Given the description of an element on the screen output the (x, y) to click on. 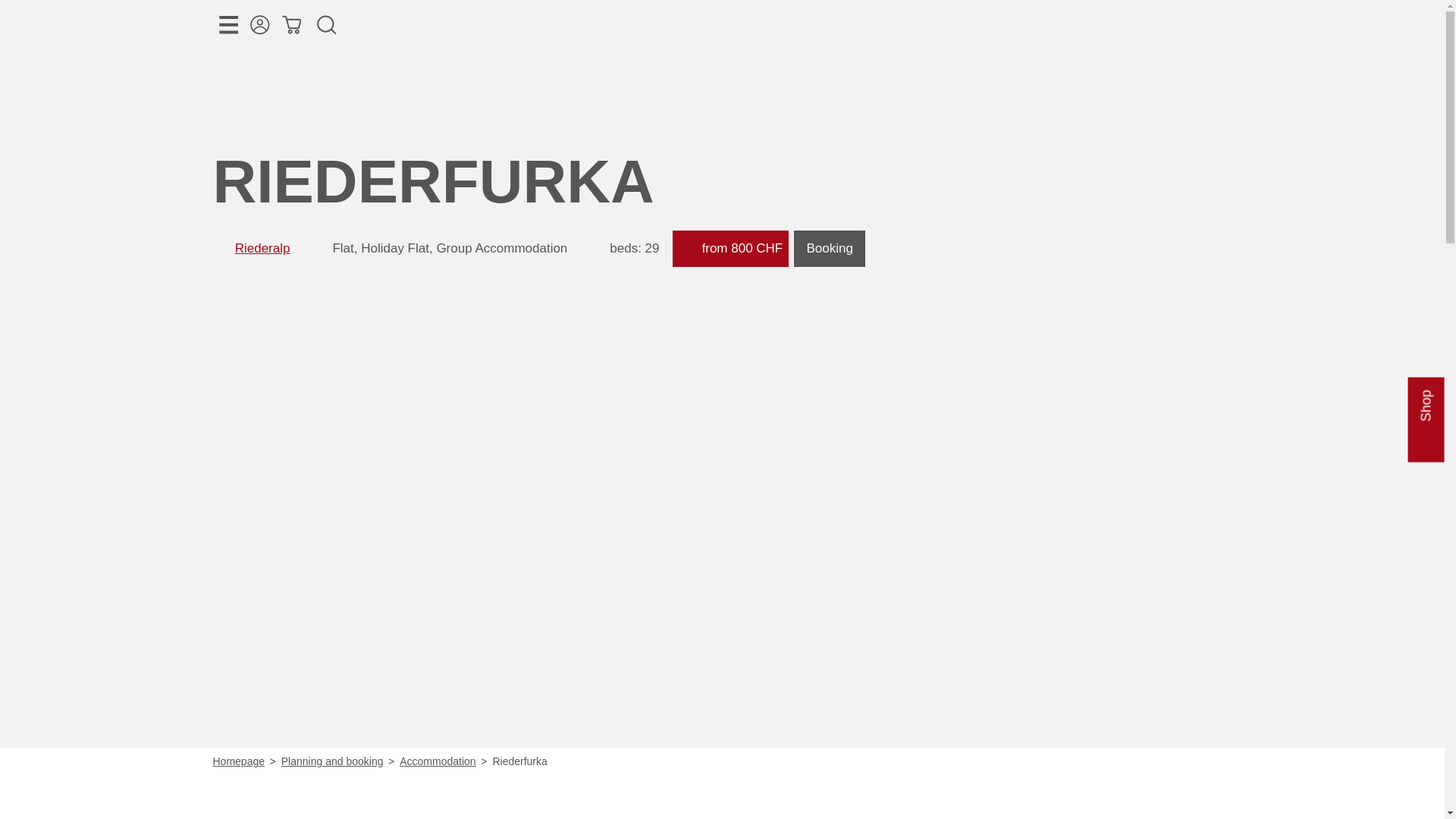
Riederalp (261, 247)
Riederalp (261, 247)
Booking (828, 248)
